Given the description of an element on the screen output the (x, y) to click on. 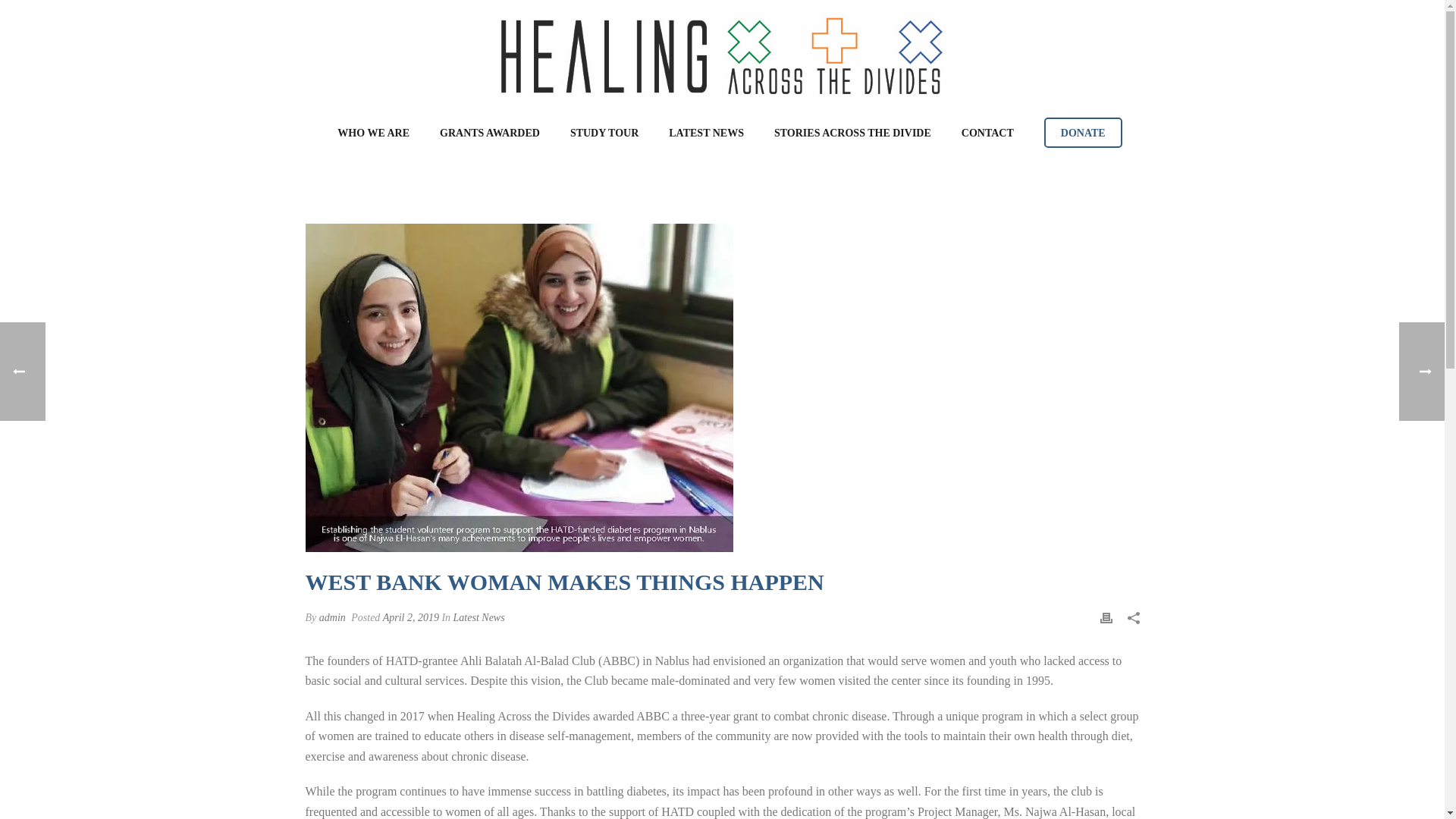
LATEST NEWS (705, 132)
WHO WE ARE (373, 132)
DONATE (1082, 132)
April 2, 2019 (410, 617)
GRANTS AWARDED (489, 132)
STUDY TOUR (603, 132)
STORIES ACROSS THE DIVIDE (852, 132)
GRANTS AWARDED (489, 132)
CONTACT (987, 132)
CONTACT (987, 132)
